Given the description of an element on the screen output the (x, y) to click on. 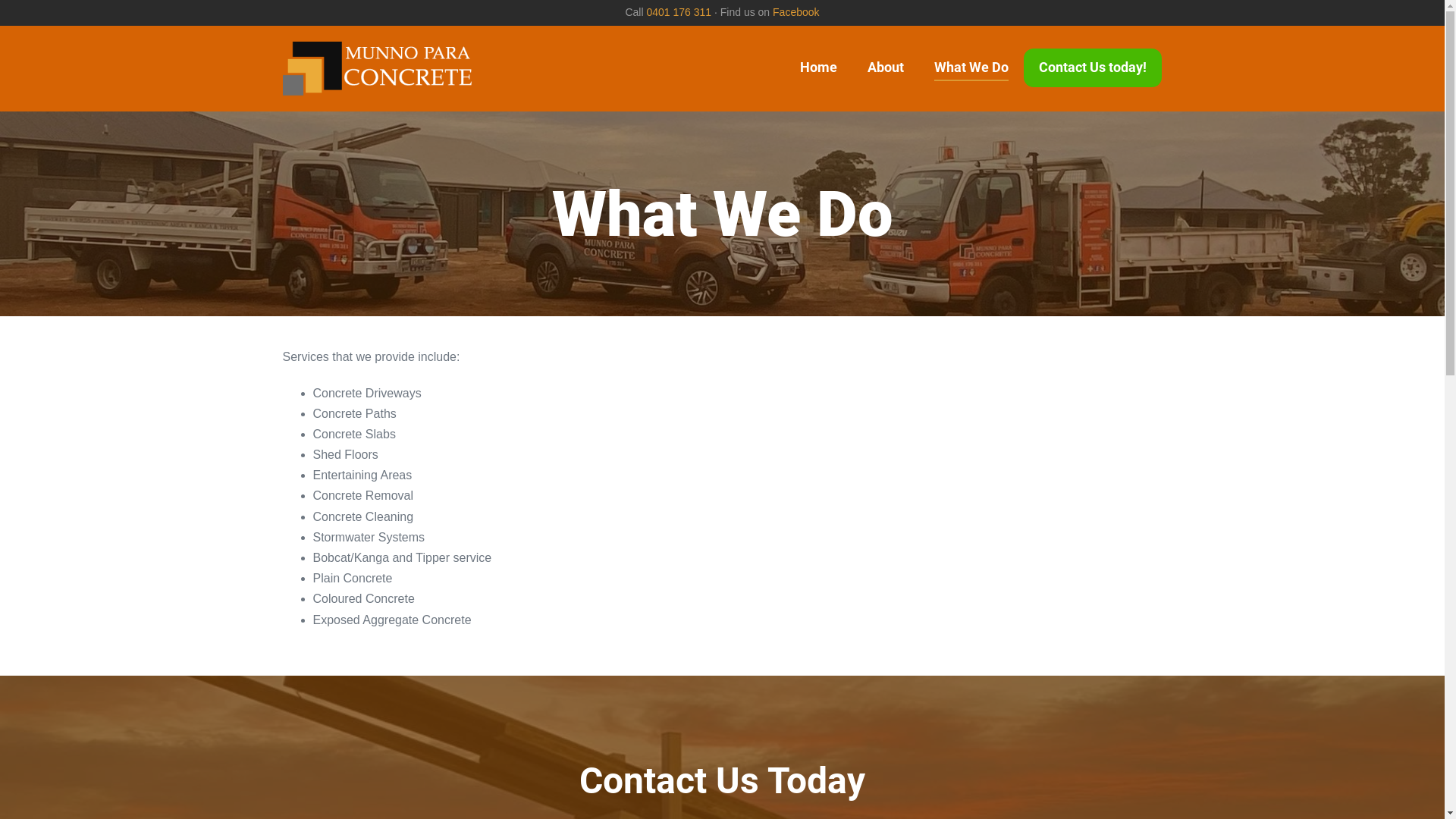
Munno Para Concrete Element type: hover (376, 68)
About Element type: text (885, 68)
0401 176 311 Element type: text (678, 12)
Contact Us today! Element type: text (1092, 67)
What We Do Element type: text (971, 68)
Home Element type: text (818, 68)
Facebook Element type: text (795, 12)
